Given the description of an element on the screen output the (x, y) to click on. 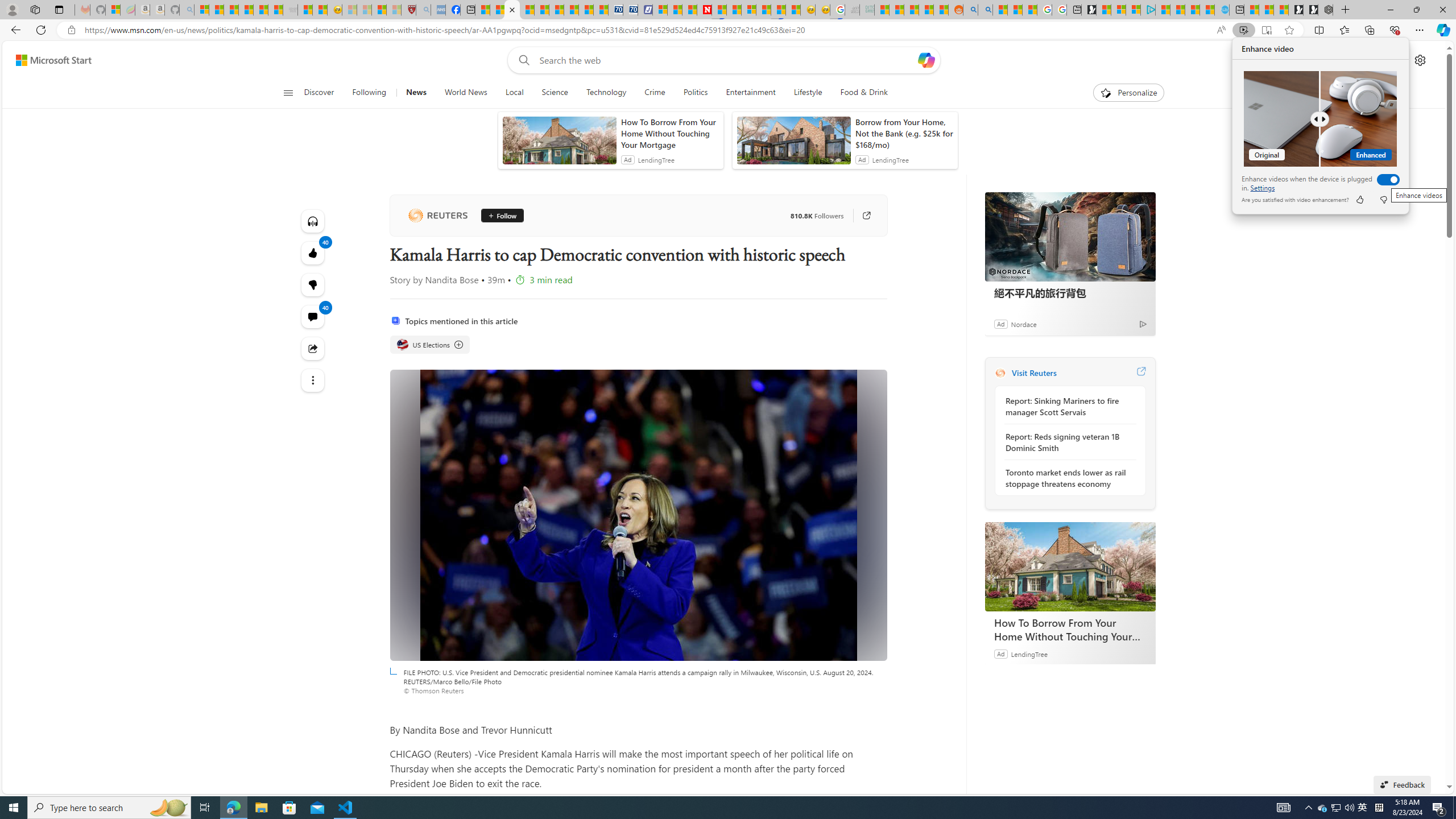
File Explorer (261, 807)
Local (514, 92)
Share this story (312, 348)
